Given the description of an element on the screen output the (x, y) to click on. 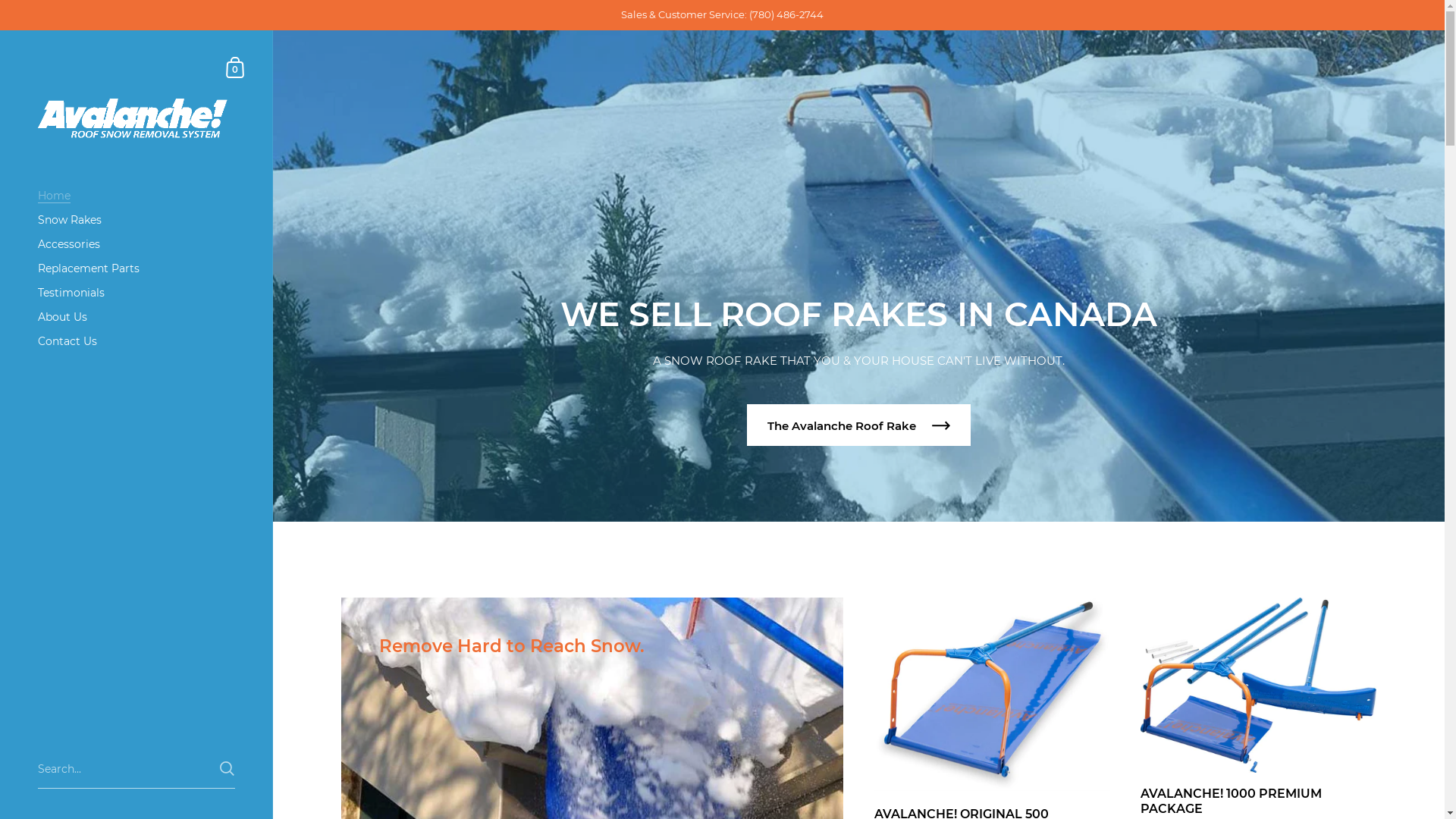
Skip to content Element type: text (0, 30)
Snow Rakes Element type: text (136, 219)
About Us Element type: text (136, 316)
Accessories Element type: text (136, 244)
Sales & Customer Service: (780) 486-2744 Element type: text (722, 15)
The Avalanche Roof Rake Element type: text (858, 424)
Testimonials Element type: text (136, 292)
Replacement Parts Element type: text (136, 268)
Shopping Cart
0 Element type: text (235, 66)
Home Element type: text (136, 195)
Contact Us Element type: text (136, 341)
